Given the description of an element on the screen output the (x, y) to click on. 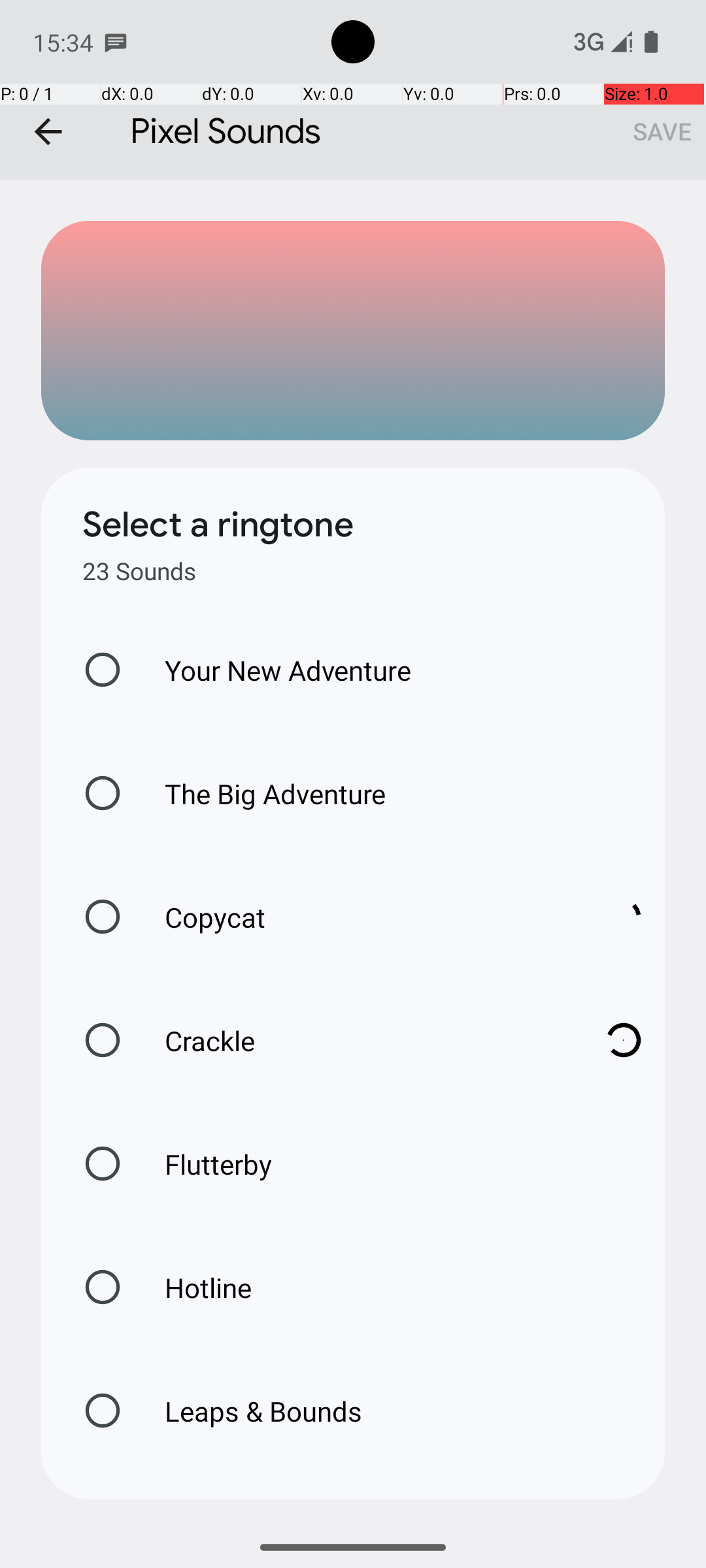
Pixel Sounds Element type: android.widget.FrameLayout (353, 89)
Select a ringtone Element type: android.widget.TextView (217, 524)
23 Sounds Element type: android.widget.TextView (139, 570)
Your New Adventure Element type: android.widget.TextView (274, 669)
The Big Adventure Element type: android.widget.TextView (261, 793)
Copycat Element type: android.widget.TextView (359, 916)
Download in progress Element type: android.widget.ImageView (623, 916)
Crackle Element type: android.widget.TextView (359, 1040)
Flutterby Element type: android.widget.TextView (204, 1163)
Hotline Element type: android.widget.TextView (194, 1287)
Leaps & Bounds Element type: android.widget.TextView (249, 1410)
